Given the description of an element on the screen output the (x, y) to click on. 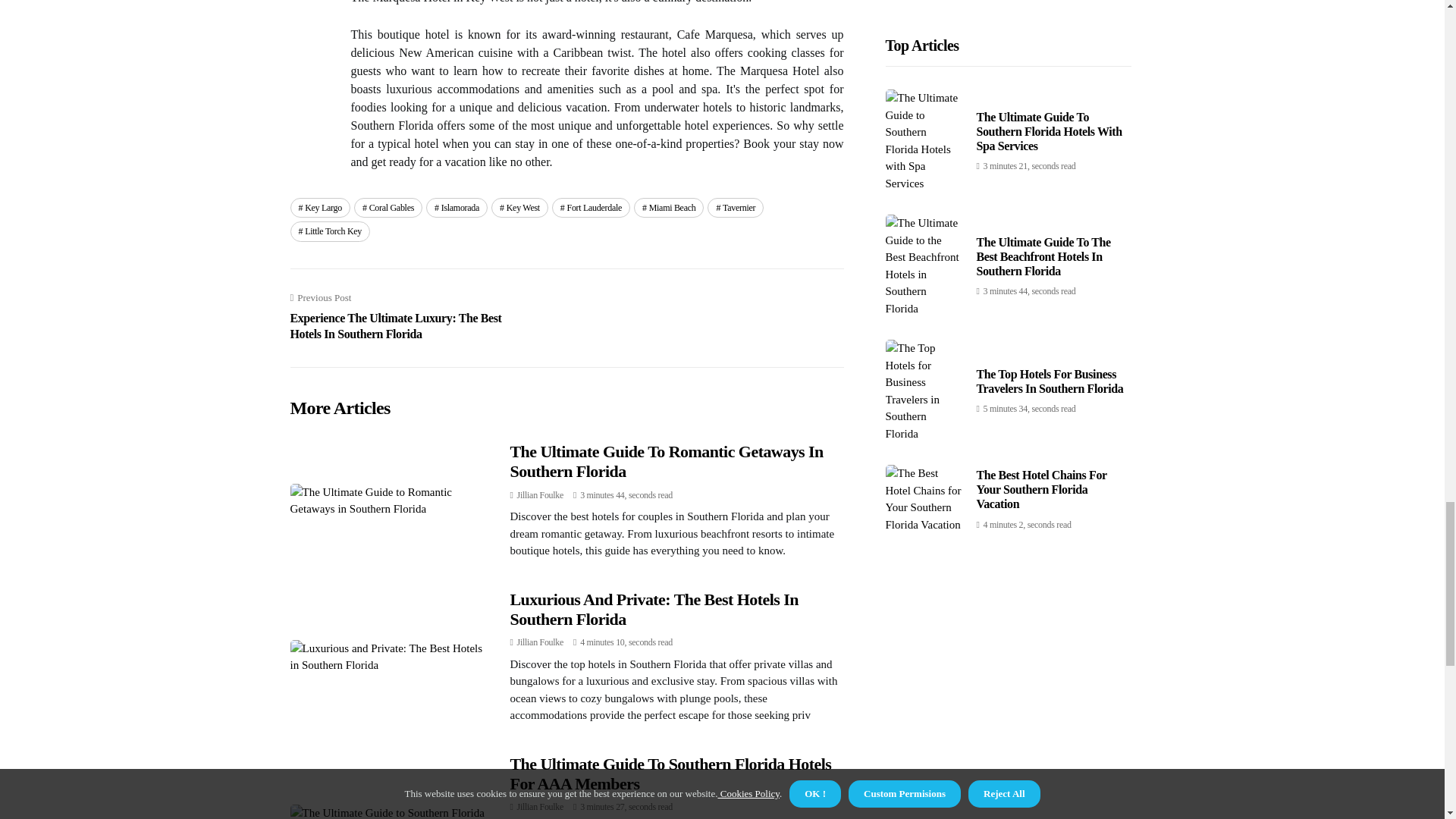
Miami Beach (668, 207)
Posts by Jillian Foulke (539, 642)
Posts by Jillian Foulke (539, 494)
Jillian Foulke (539, 642)
Coral Gables (387, 207)
Posts by Jillian Foulke (539, 806)
Jillian Foulke (539, 494)
Key West (520, 207)
Little Torch Key (329, 230)
Luxurious And Private: The Best Hotels In Southern Florida (653, 608)
Fort Lauderdale (590, 207)
Jillian Foulke (539, 806)
Tavernier (734, 207)
